Given the description of an element on the screen output the (x, y) to click on. 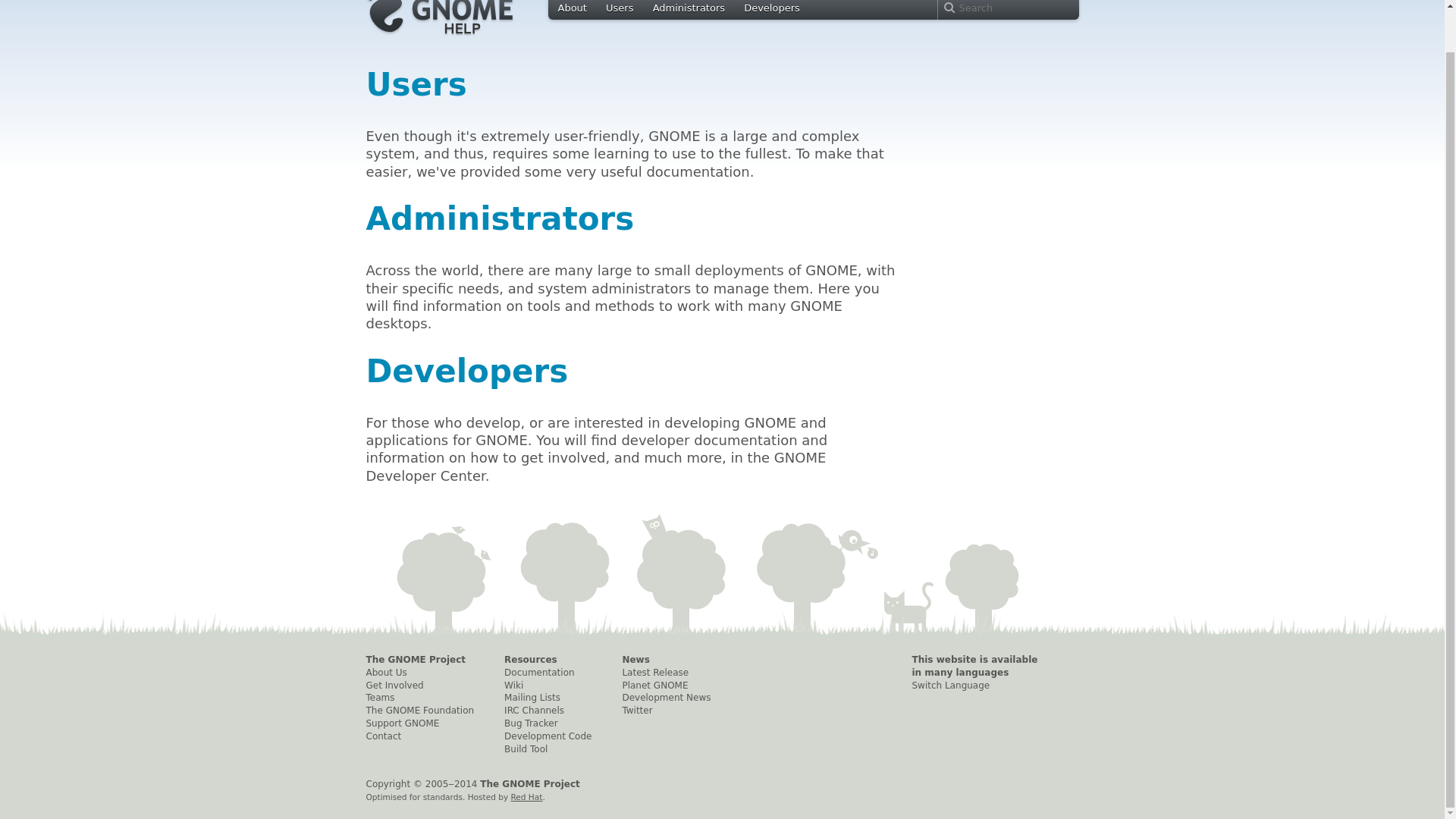
About Us (419, 672)
Switch Language (979, 685)
News (665, 659)
Development Code (547, 736)
Latest Release (665, 672)
IRC Channels (547, 710)
Users (415, 84)
The GNOME Project (419, 659)
Resources (547, 659)
Contact (419, 736)
Mailing Lists (547, 697)
Get Involved (419, 685)
Build Tool (547, 748)
Developers (772, 8)
Red Hat (526, 796)
